Given the description of an element on the screen output the (x, y) to click on. 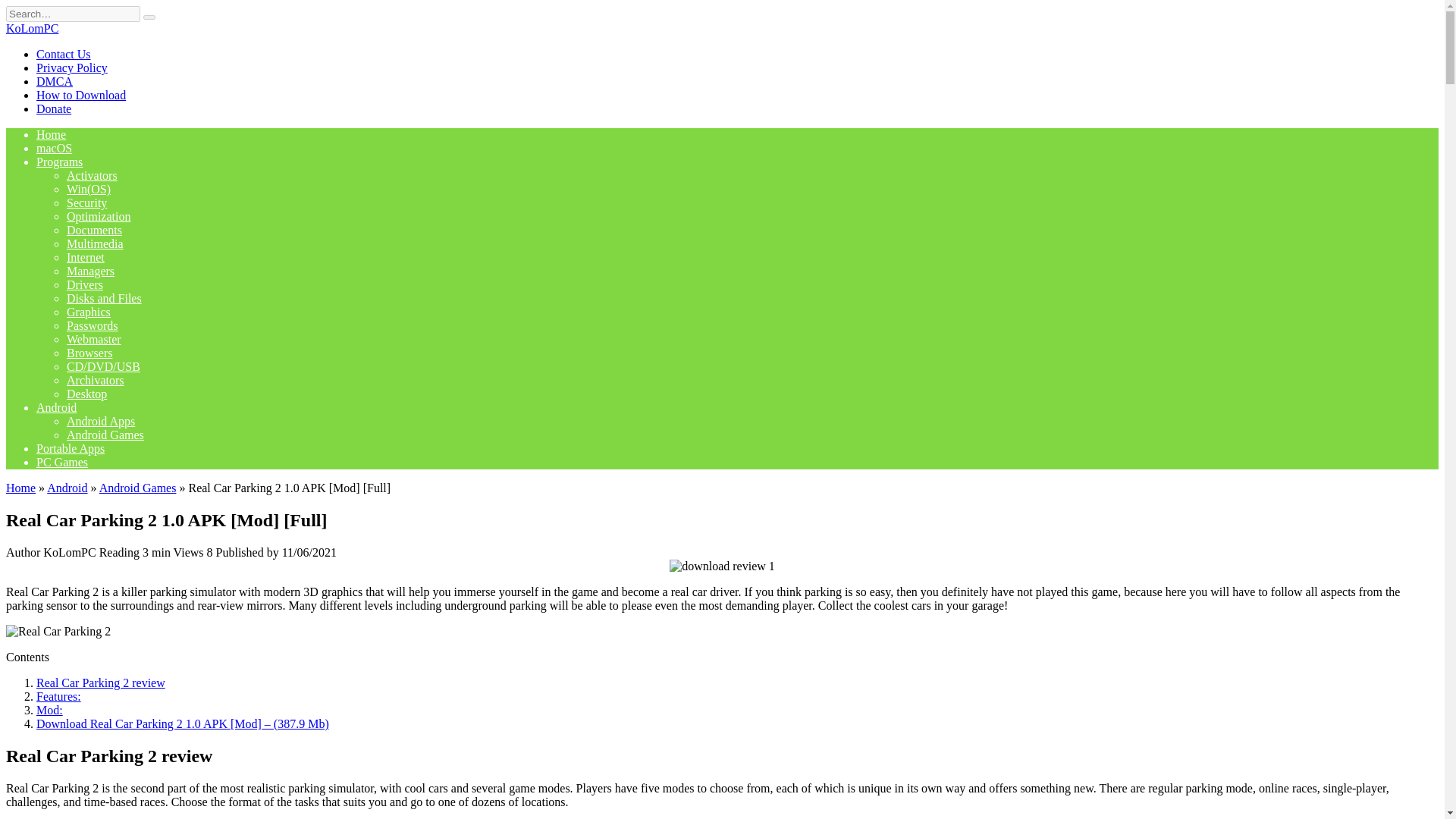
Activators (91, 174)
Privacy Policy (71, 67)
Webmaster (93, 338)
Programs (59, 161)
Home (19, 487)
Contact Us (63, 53)
Android Apps (100, 420)
DMCA (54, 81)
Archivators (94, 379)
